Given the description of an element on the screen output the (x, y) to click on. 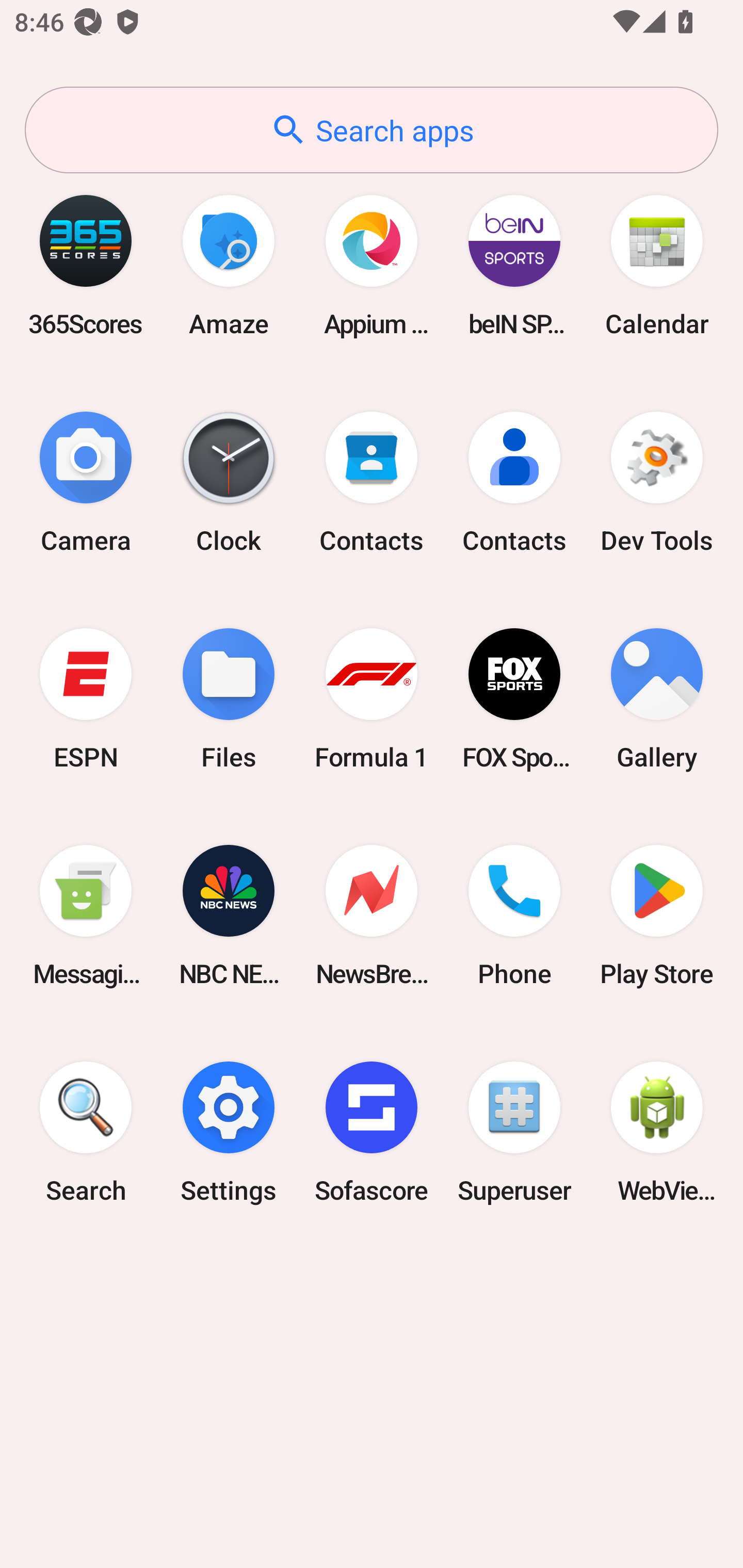
  Search apps (371, 130)
365Scores (85, 264)
Amaze (228, 264)
Appium Settings (371, 264)
beIN SPORTS (514, 264)
Calendar (656, 264)
Camera (85, 482)
Clock (228, 482)
Contacts (371, 482)
Contacts (514, 482)
Dev Tools (656, 482)
ESPN (85, 699)
Files (228, 699)
Formula 1 (371, 699)
FOX Sports (514, 699)
Gallery (656, 699)
Messaging (85, 915)
NBC NEWS (228, 915)
NewsBreak (371, 915)
Phone (514, 915)
Play Store (656, 915)
Search (85, 1131)
Settings (228, 1131)
Sofascore (371, 1131)
Superuser (514, 1131)
WebView Browser Tester (656, 1131)
